Given the description of an element on the screen output the (x, y) to click on. 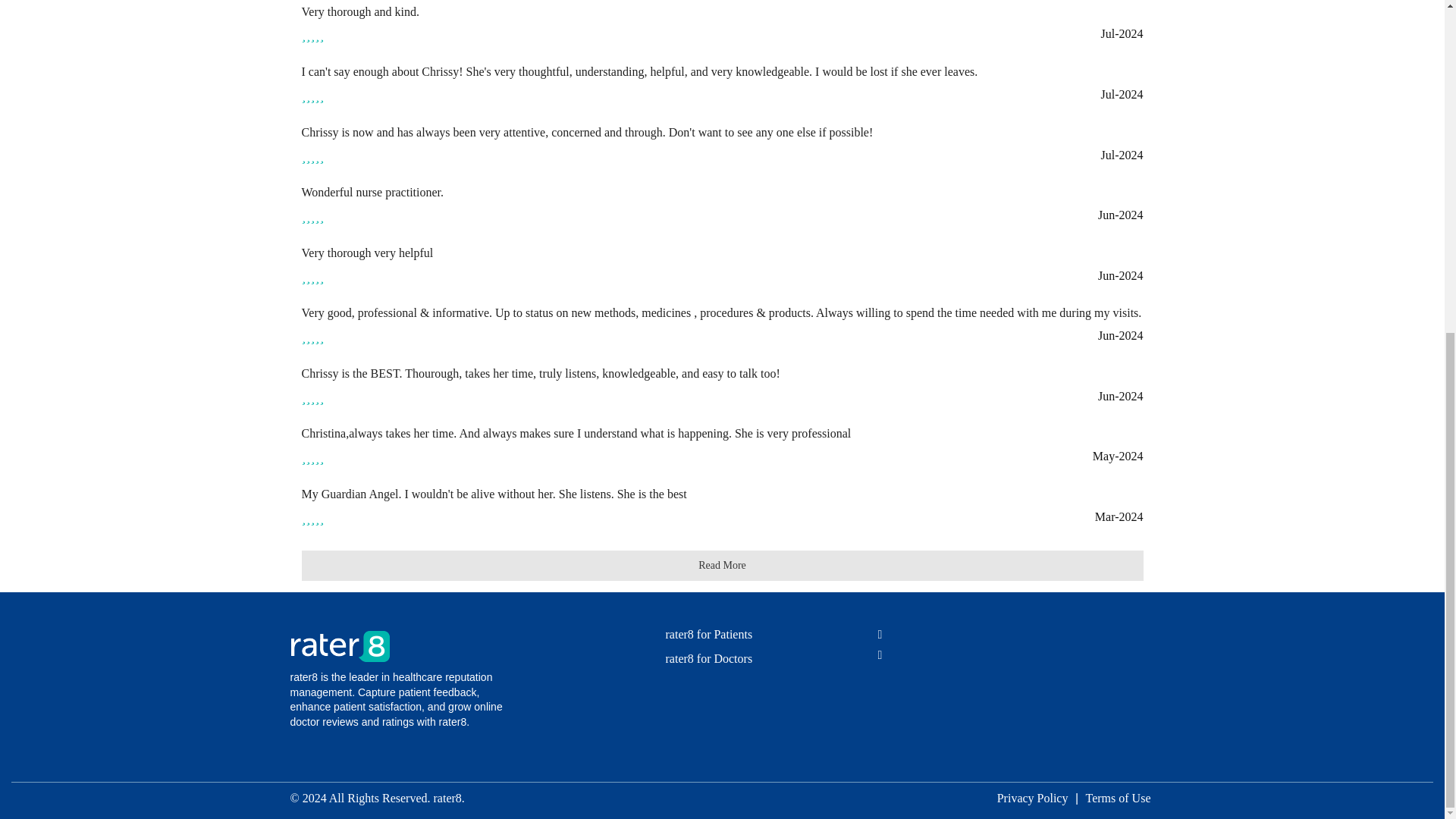
Terms of Use (1117, 798)
rater8 for Doctors (708, 658)
rater8 for Patients (708, 634)
Privacy Policy (1031, 798)
